Given the description of an element on the screen output the (x, y) to click on. 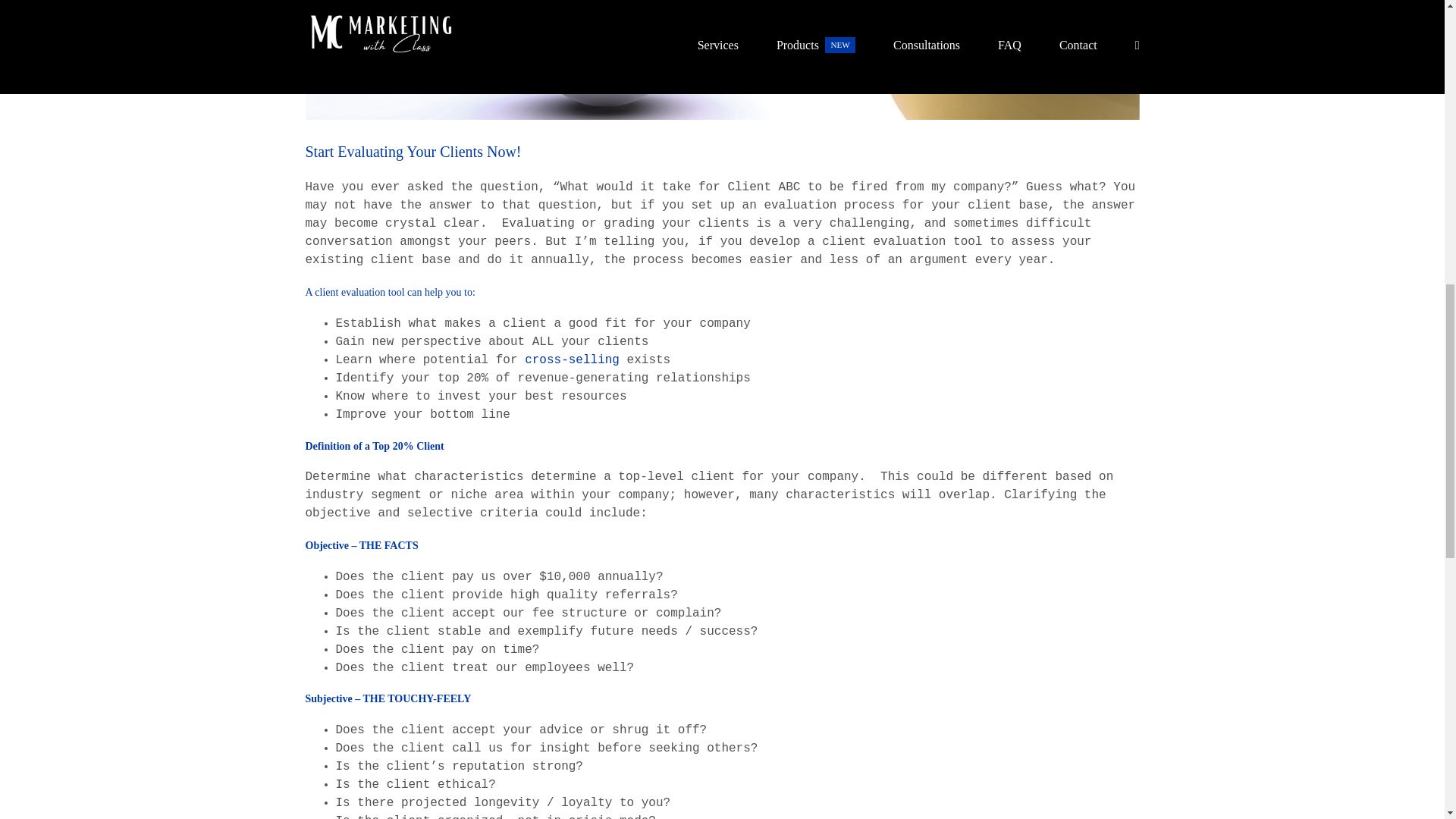
View Larger Image (721, 59)
cross-selling (572, 359)
